Given the description of an element on the screen output the (x, y) to click on. 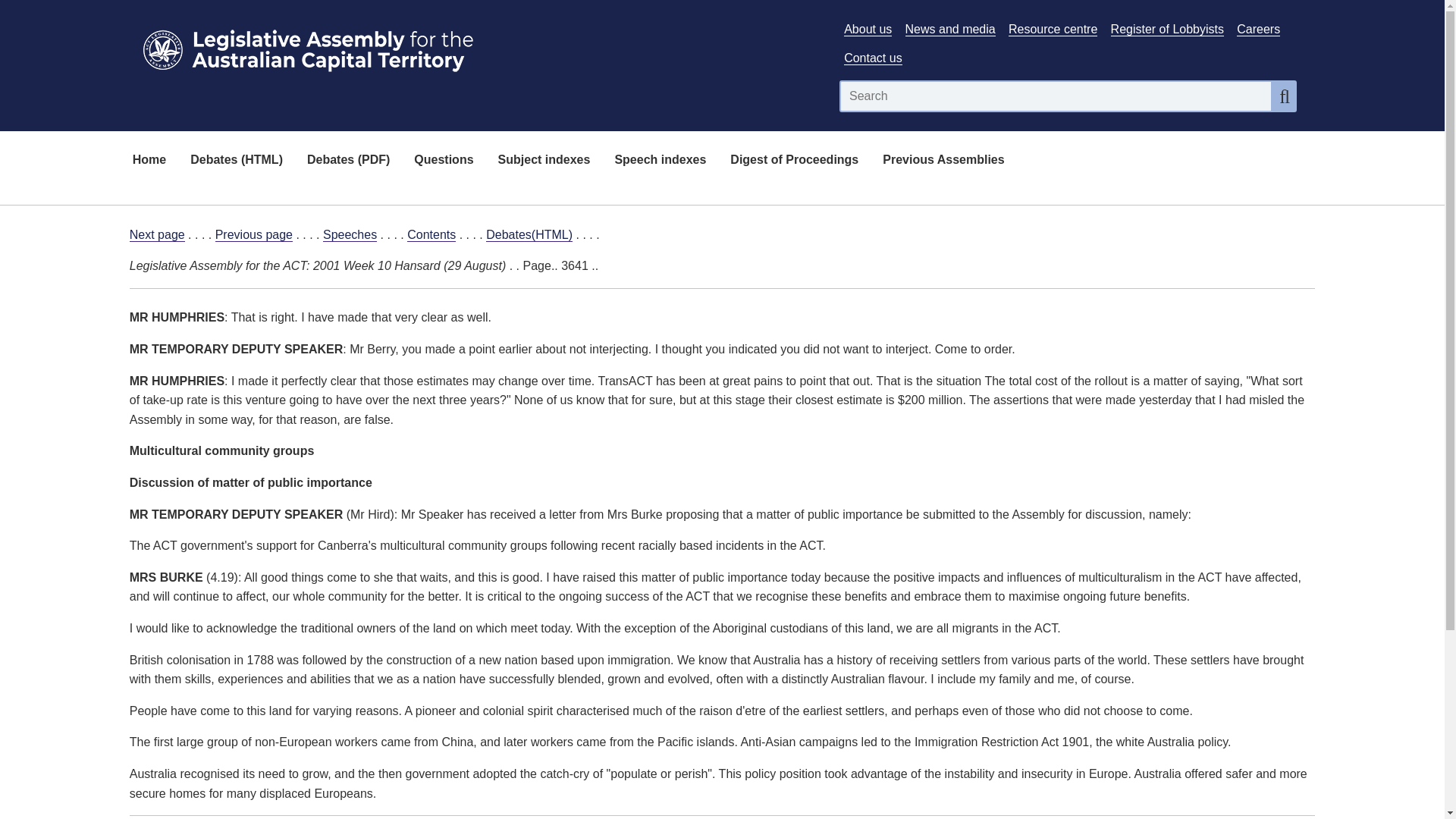
Link to Careers (1257, 29)
Questions (442, 160)
Previous Assemblies (943, 160)
Link to Homepage (475, 46)
Search input field (1056, 96)
News and media (950, 29)
Link to About Us (867, 29)
Link to Register of Lobbyists (1167, 29)
Register of Lobbyists (1167, 29)
Link to Contact Us (872, 58)
